Given the description of an element on the screen output the (x, y) to click on. 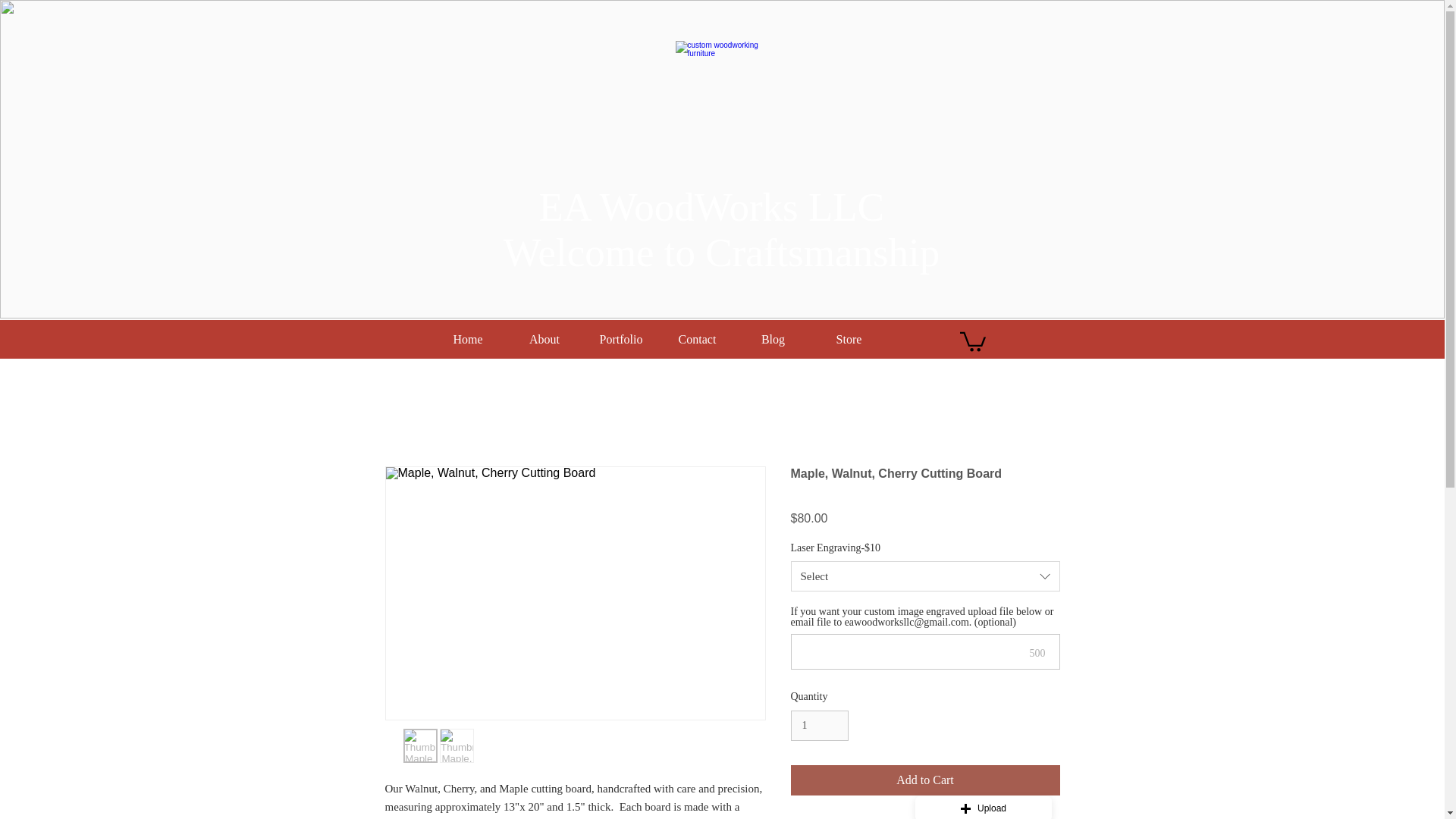
1 (818, 726)
Portfolio (620, 339)
About (544, 339)
Blog (772, 339)
Store (848, 339)
Home (467, 339)
Select (924, 576)
Add to Cart (721, 229)
Contact (924, 779)
